Given the description of an element on the screen output the (x, y) to click on. 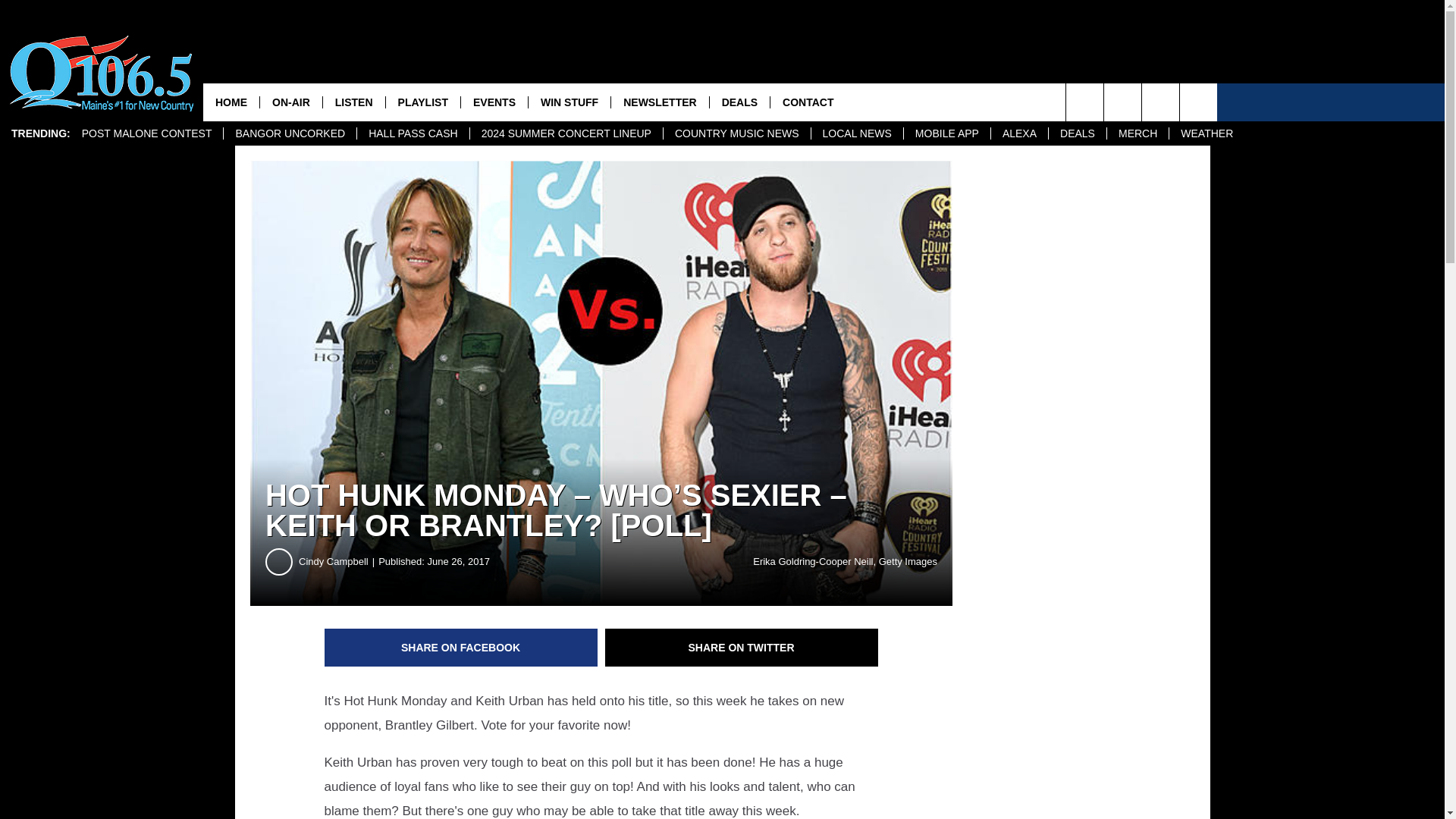
POST MALONE CONTEST (146, 133)
HALL PASS CASH (412, 133)
PLAYLIST (422, 102)
BANGOR UNCORKED (289, 133)
HOME (231, 102)
WIN STUFF (568, 102)
Share on Twitter (741, 647)
DEALS (739, 102)
NEWSLETTER (658, 102)
COUNTRY MUSIC NEWS (736, 133)
